Given the description of an element on the screen output the (x, y) to click on. 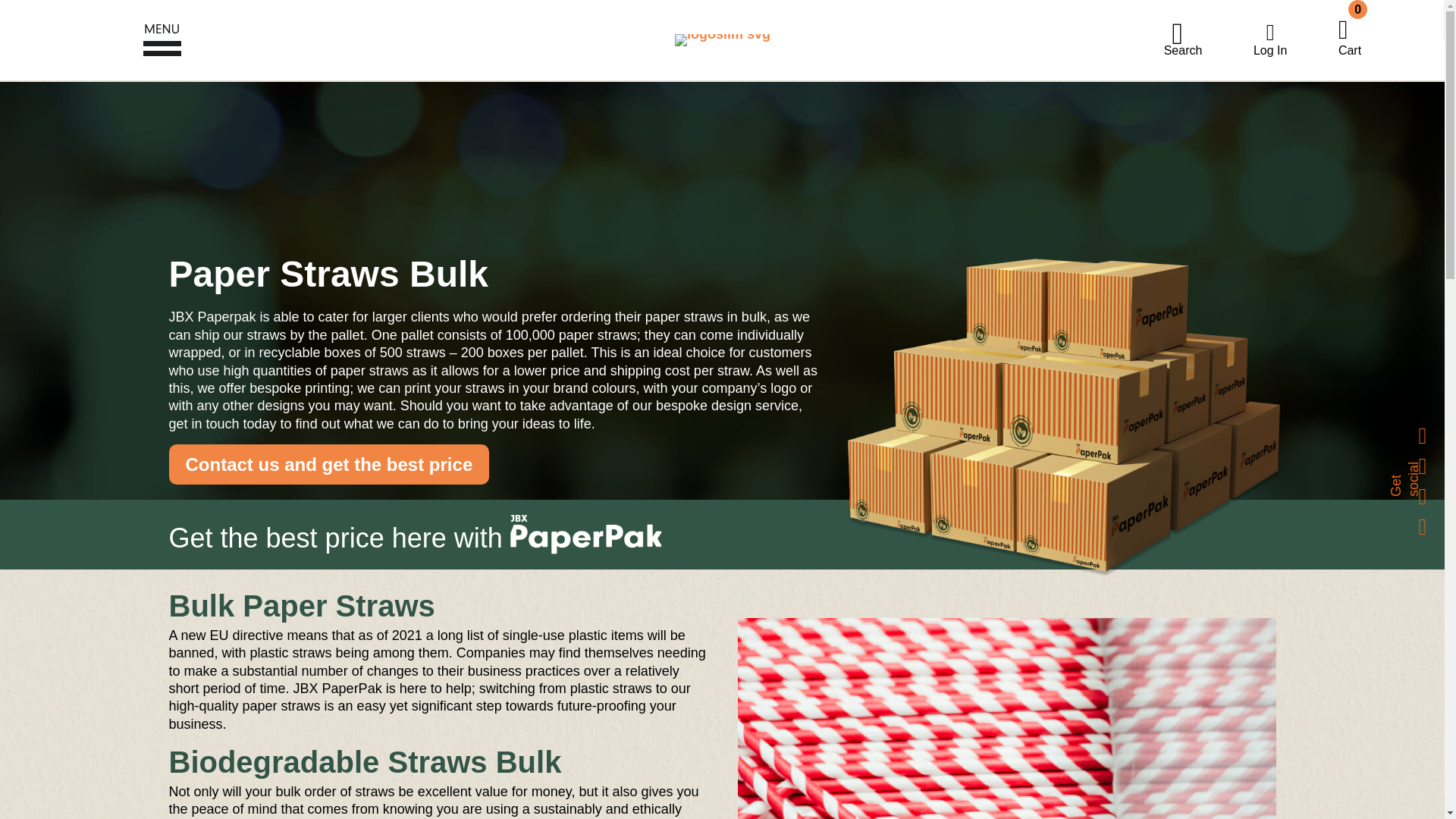
View your shopping cart (1349, 33)
logoslim svg (1349, 33)
